Given the description of an element on the screen output the (x, y) to click on. 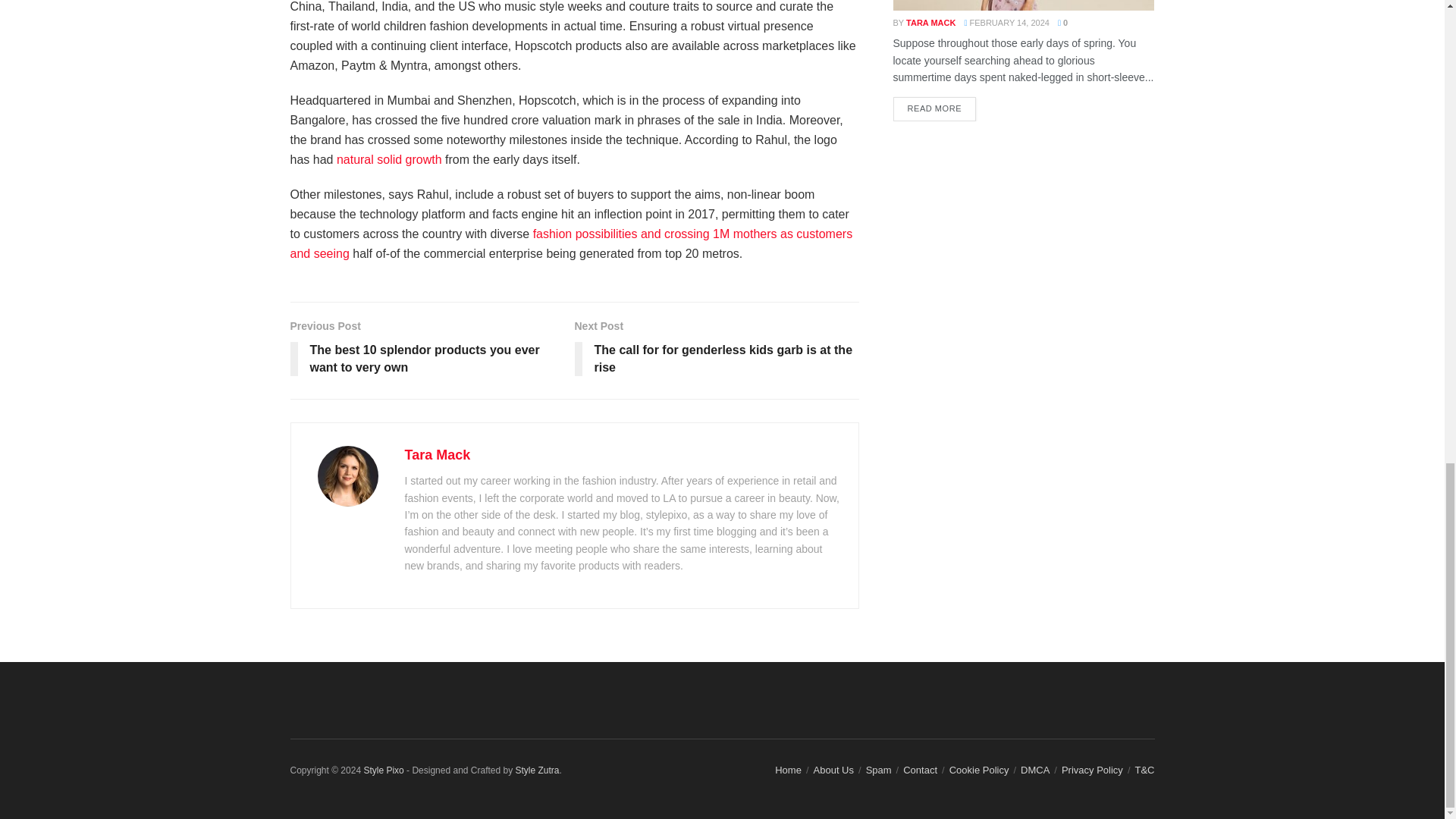
Style Zutra (537, 769)
Style Pixo - Be Stylist n Viva Today (382, 769)
